Given the description of an element on the screen output the (x, y) to click on. 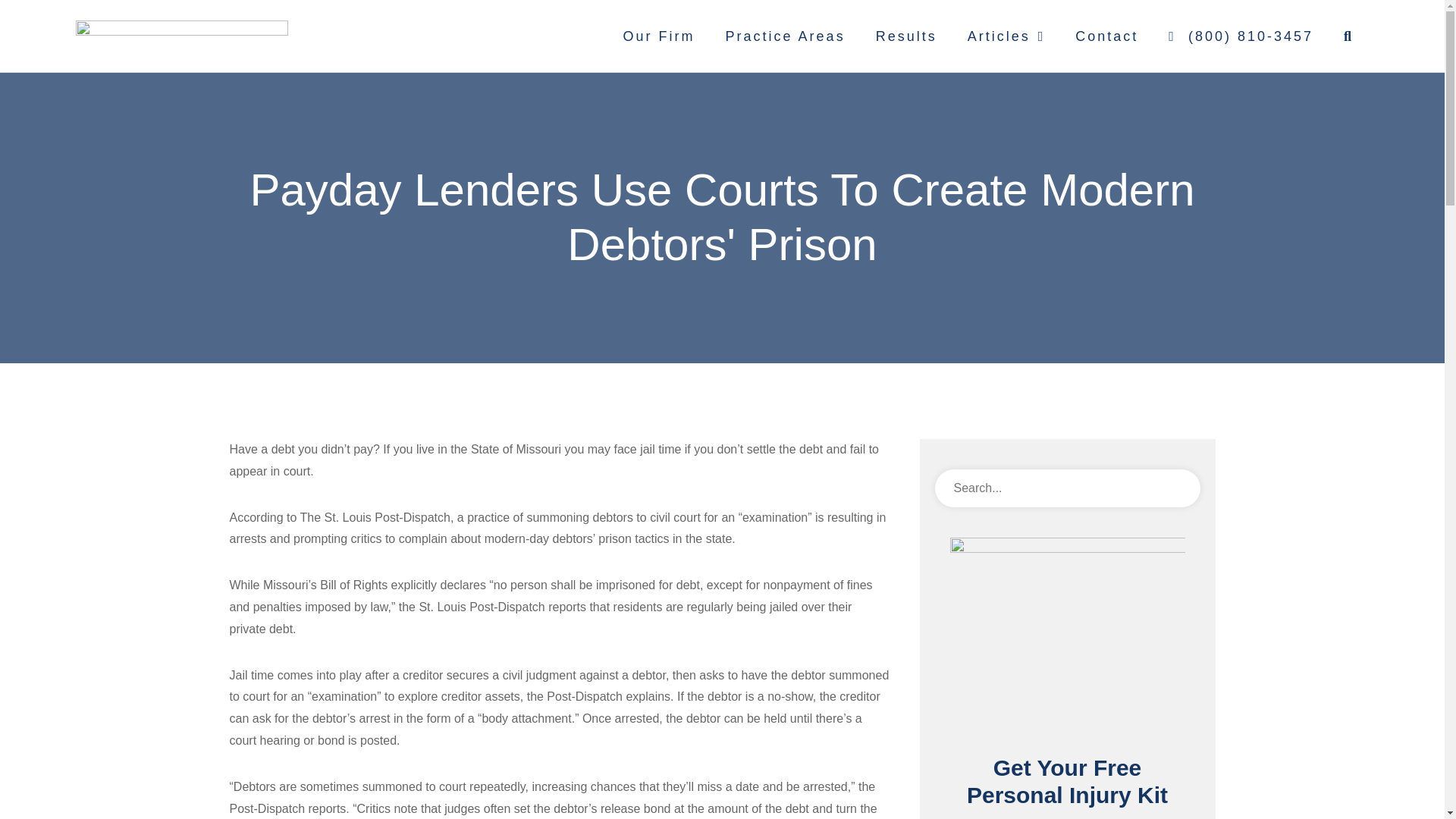
Practice Areas (785, 36)
Articles (1006, 36)
Our Firm (659, 36)
Search (1175, 488)
Search (1066, 487)
Contact (1106, 36)
Results (906, 36)
